Given the description of an element on the screen output the (x, y) to click on. 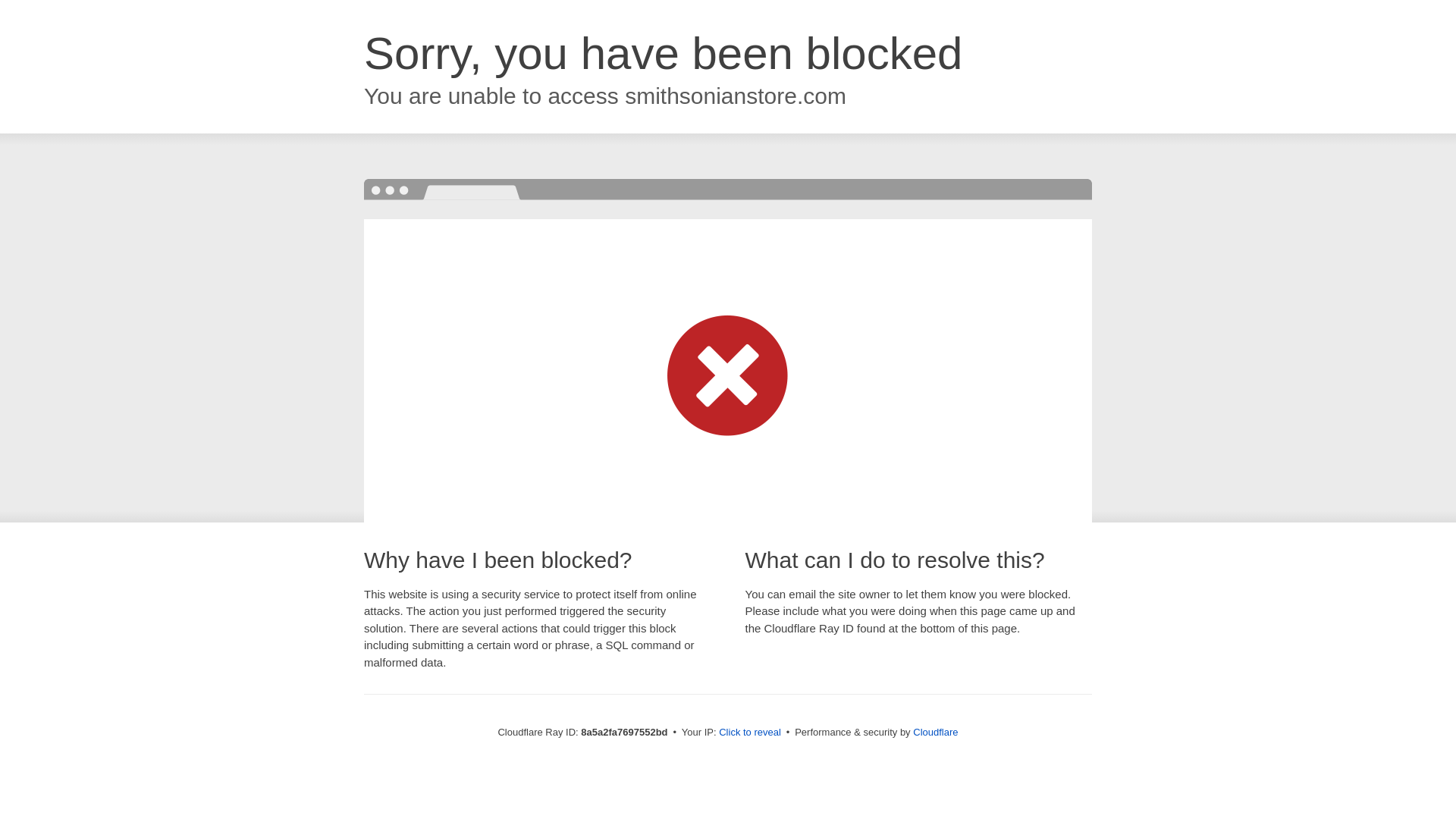
Cloudflare (935, 731)
Click to reveal (749, 732)
